Given the description of an element on the screen output the (x, y) to click on. 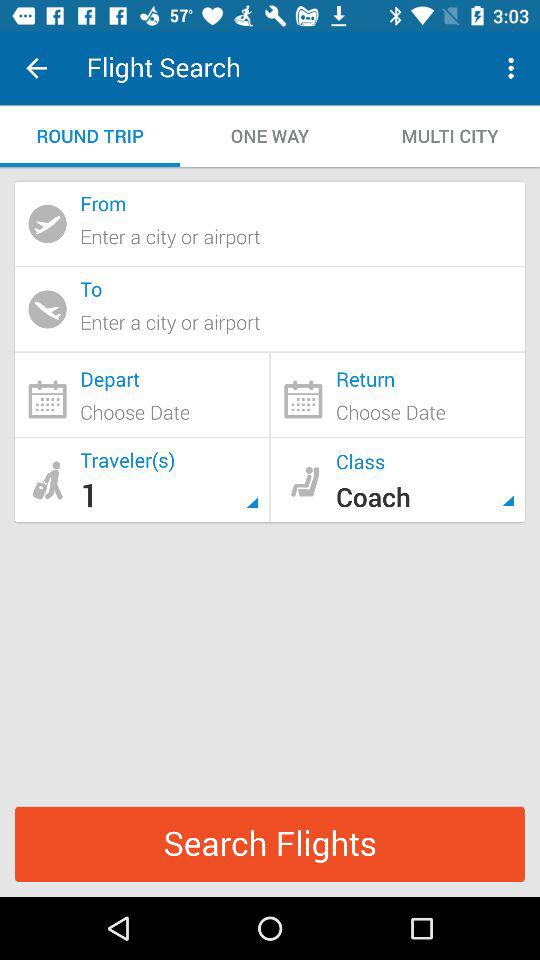
launch icon next to the one way icon (90, 136)
